Given the description of an element on the screen output the (x, y) to click on. 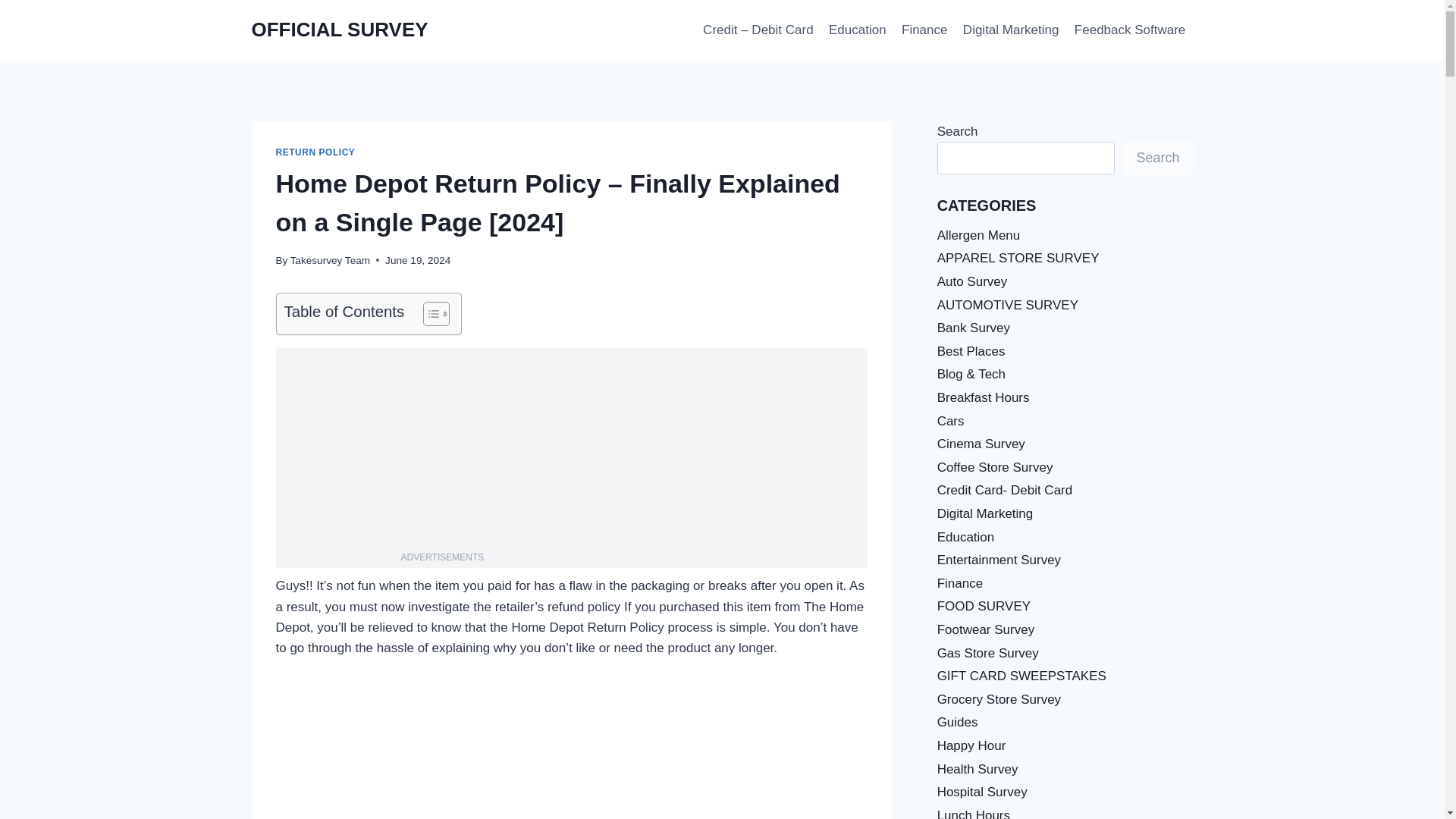
Education (857, 30)
Advertisement (614, 454)
Finance (924, 30)
OFFICIAL SURVEY (339, 29)
Digital Marketing (1011, 30)
Feedback Software (1130, 30)
ADVERTISEMENTS (442, 557)
RETURN POLICY (315, 152)
Takesurvey Team (330, 260)
